Given the description of an element on the screen output the (x, y) to click on. 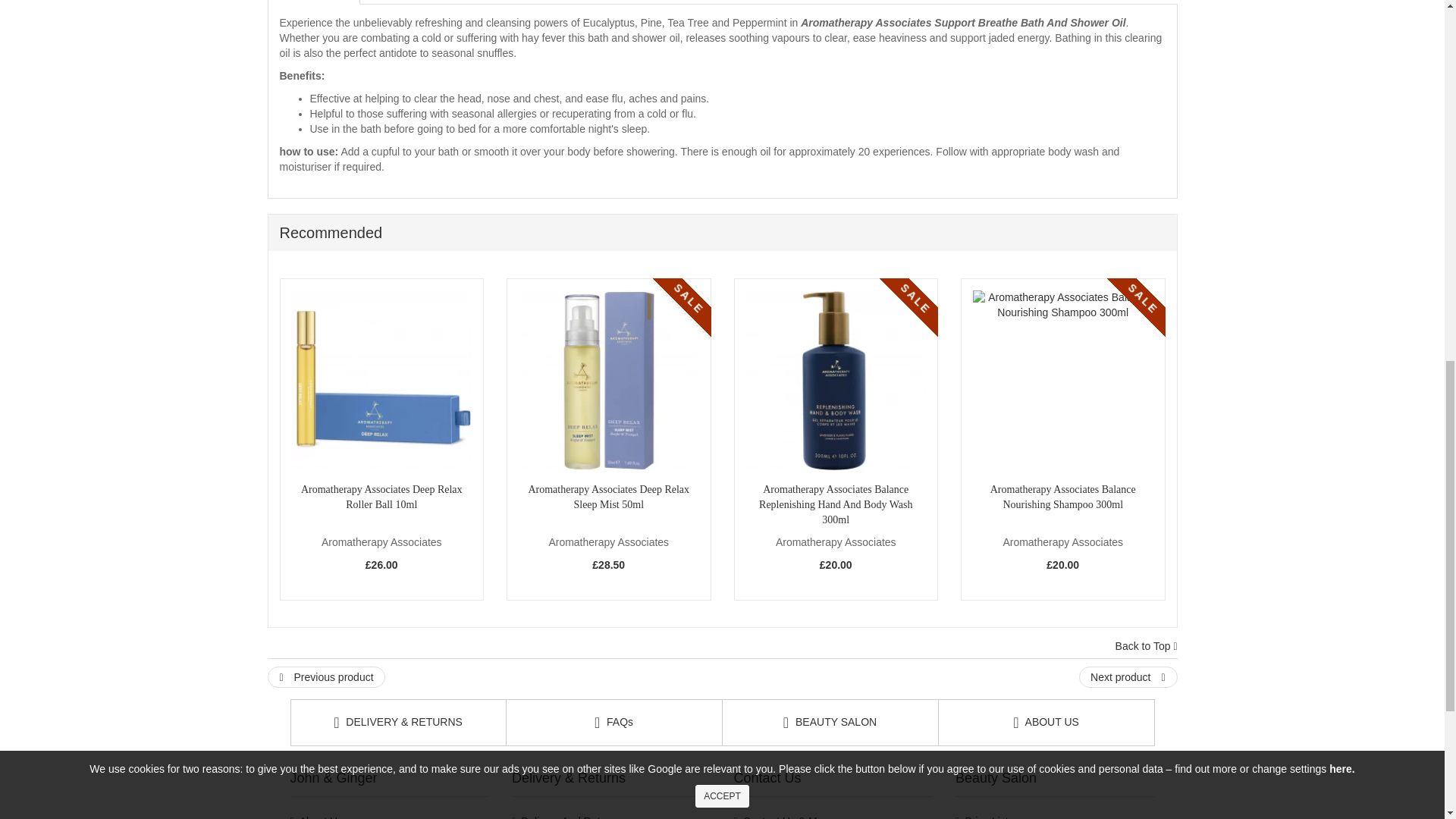
Aromatherapy Associates Deep Relax Sleep Mist 50ml (608, 380)
Aromatherapy Associates Deep Relax Roller Ball 10ml (381, 380)
Back to Top (1146, 646)
Aromatherapy Associates Balance Nourishing Shampoo 300ml (1062, 380)
